Given the description of an element on the screen output the (x, y) to click on. 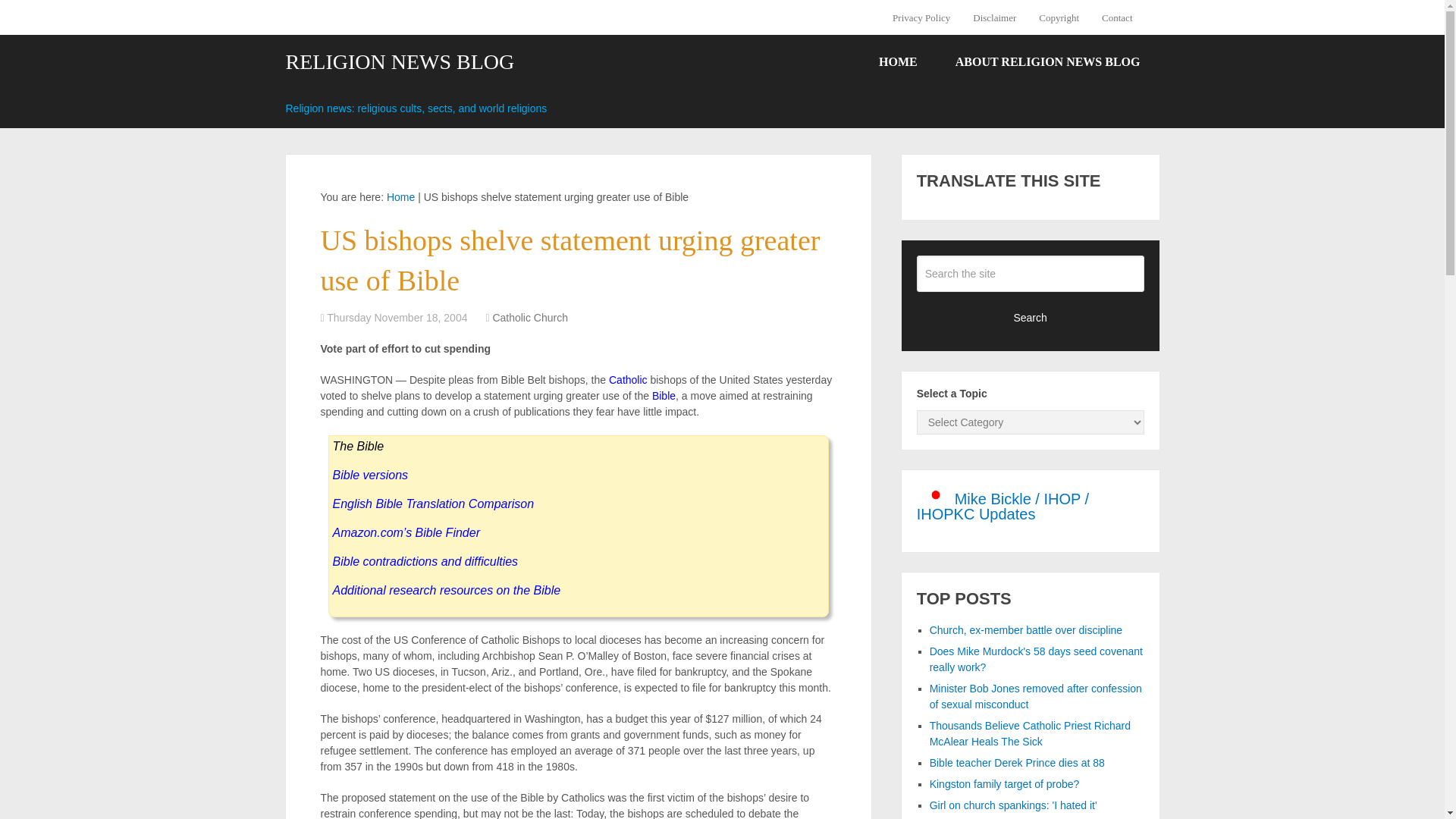
English Bible Translation Comparison (432, 503)
Home (400, 196)
Contact (1116, 17)
ABOUT RELIGION NEWS BLOG (1047, 62)
RELIGION NEWS BLOG (399, 61)
Additional research resources on the Bible (445, 590)
Bible (663, 395)
View all posts in Catholic Church (529, 317)
Catholic Church (529, 317)
HOME (898, 62)
Bible teacher Derek Prince dies at 88 (1017, 762)
Privacy Policy (926, 17)
Disclaimer (993, 17)
